Given the description of an element on the screen output the (x, y) to click on. 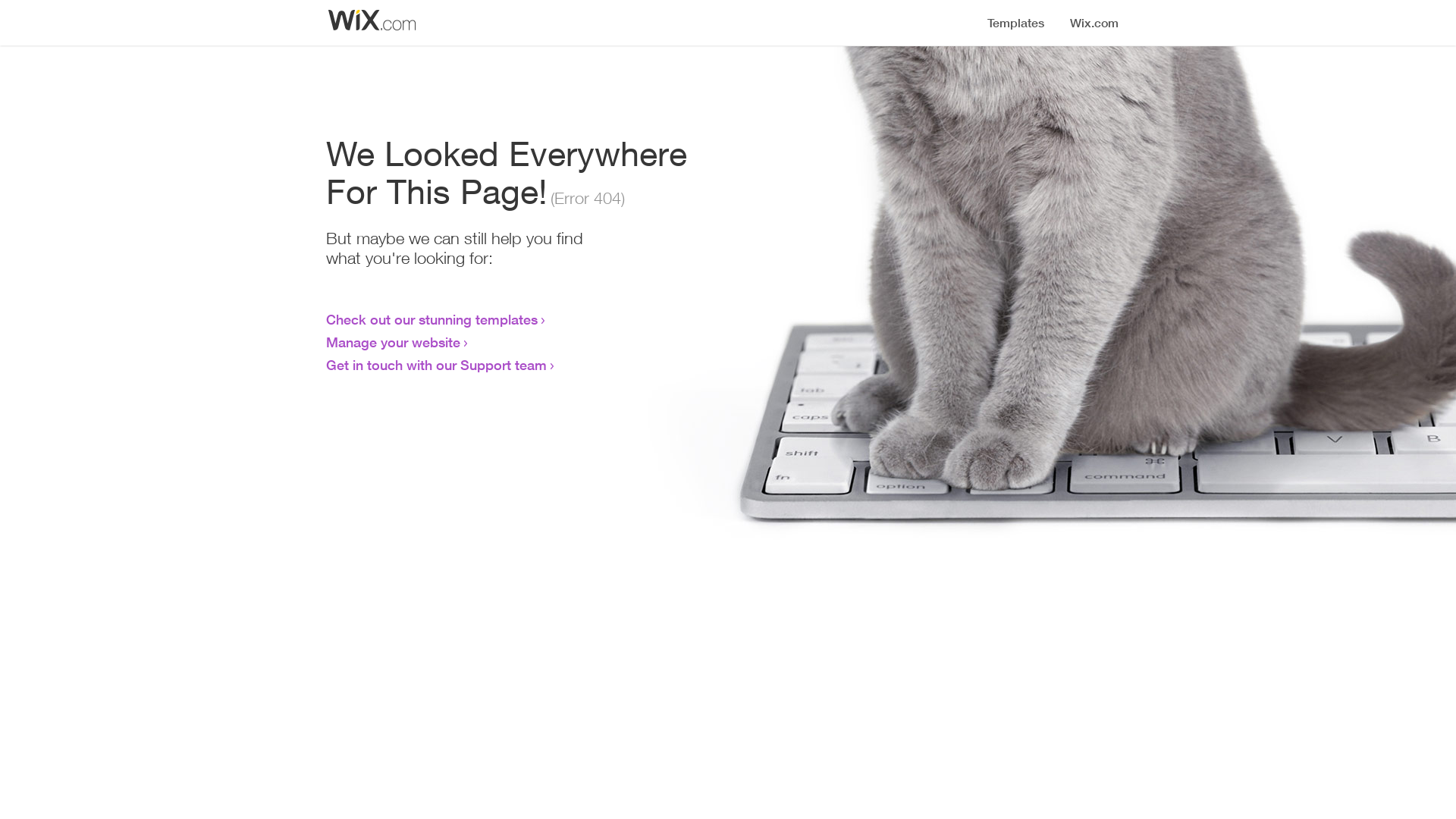
Get in touch with our Support team Element type: text (436, 364)
Manage your website Element type: text (393, 341)
Check out our stunning templates Element type: text (431, 318)
